Given the description of an element on the screen output the (x, y) to click on. 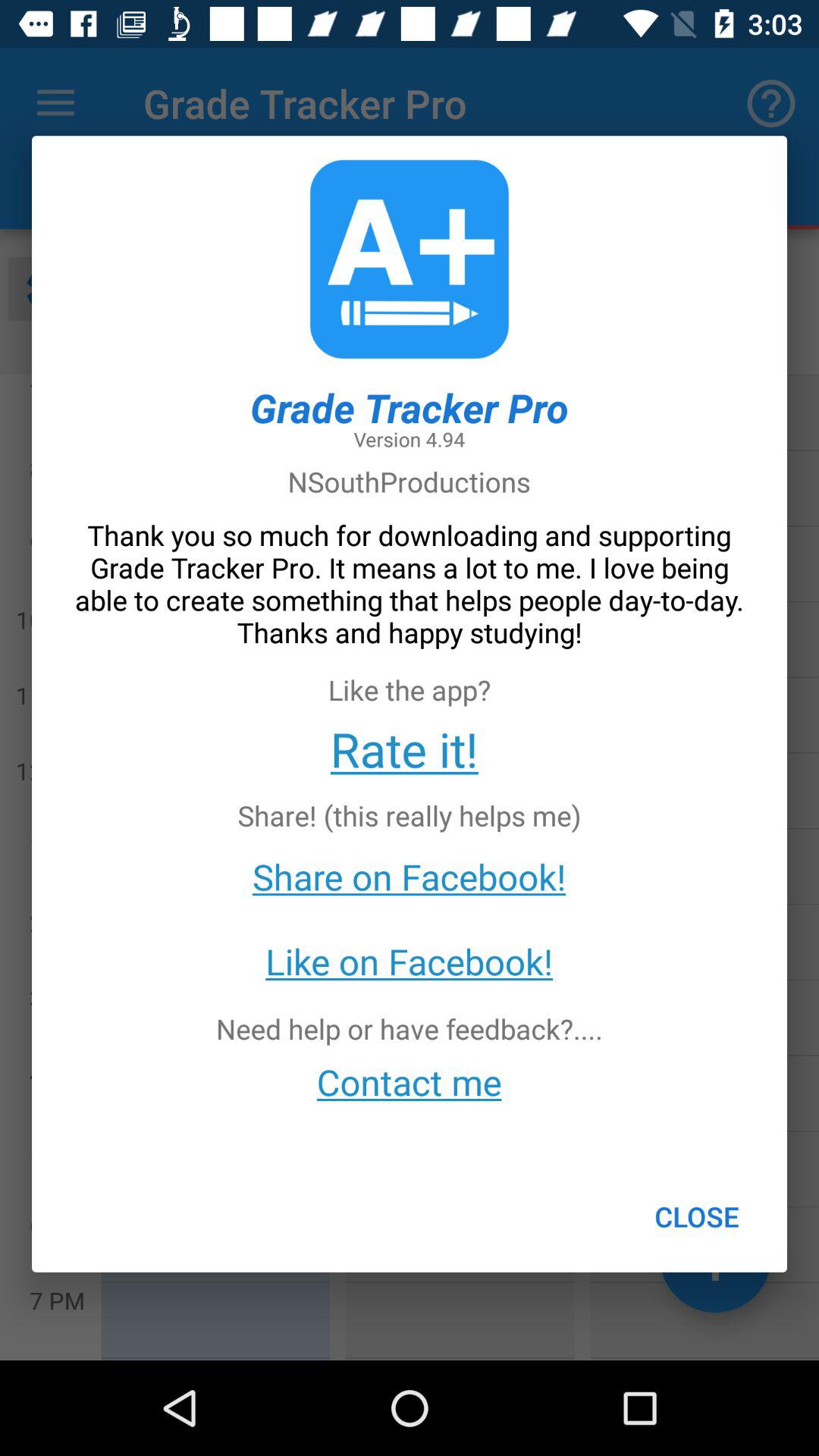
open icon below need help or item (408, 1081)
